Given the description of an element on the screen output the (x, y) to click on. 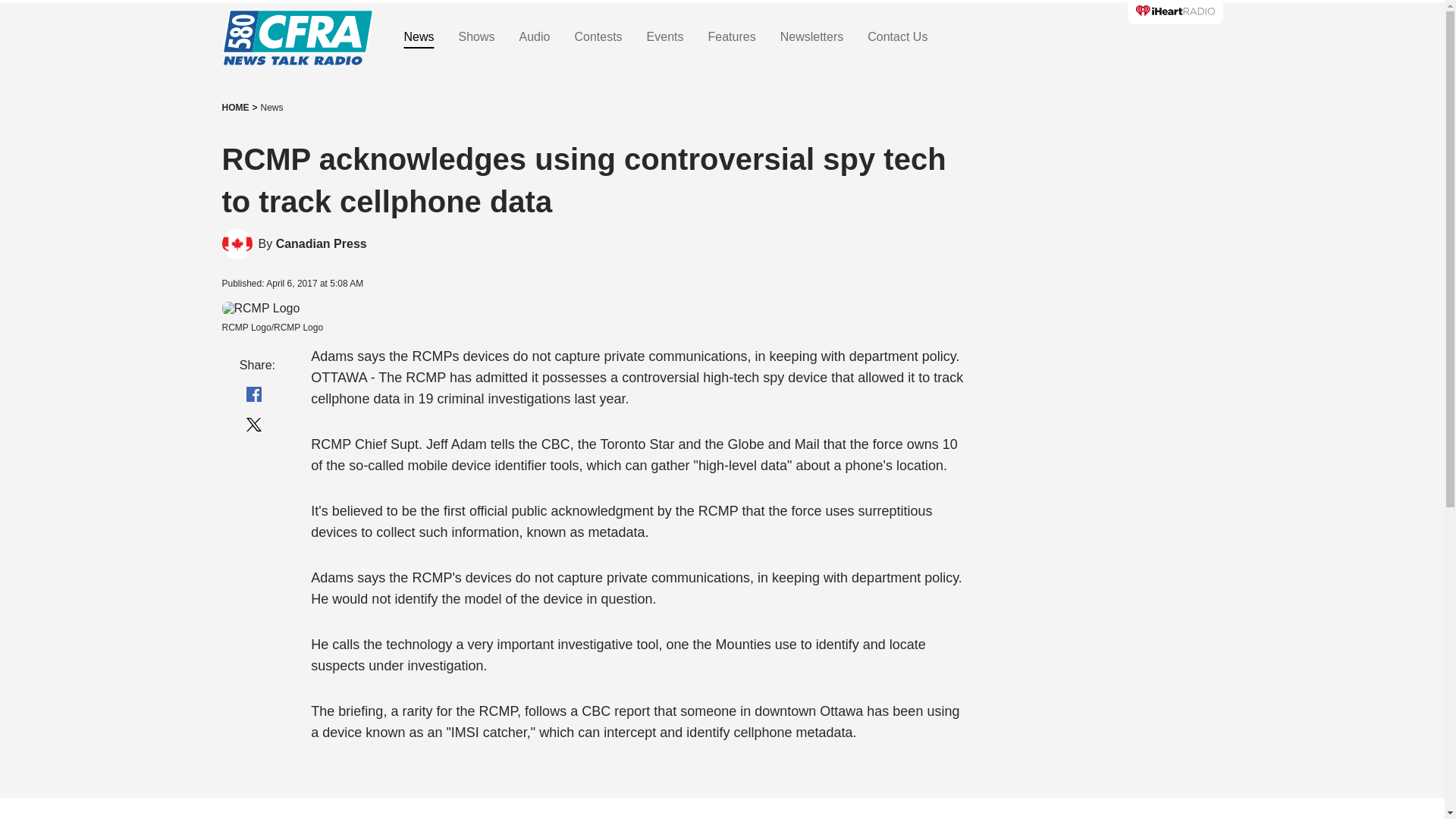
News (271, 107)
Canadian Press (321, 243)
HOME (234, 107)
Newsletters (812, 37)
Canadian Press (321, 243)
Features (731, 37)
Canadian Press (236, 244)
Contests (597, 37)
Contact Us (897, 37)
